Given the description of an element on the screen output the (x, y) to click on. 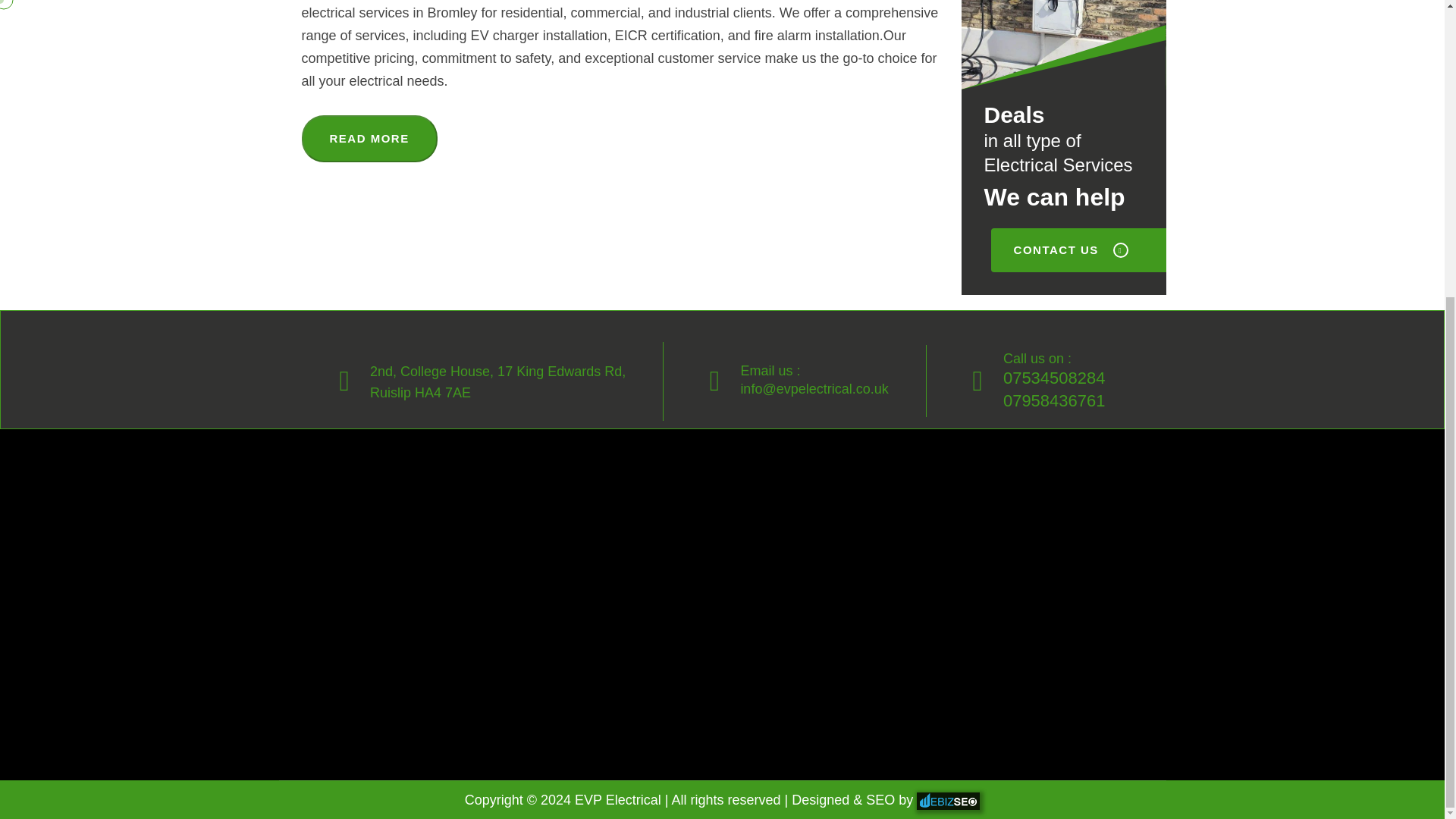
CONTACT US (1078, 249)
READ MORE (497, 381)
07958436761 (369, 138)
07534508284 (1054, 400)
